Given the description of an element on the screen output the (x, y) to click on. 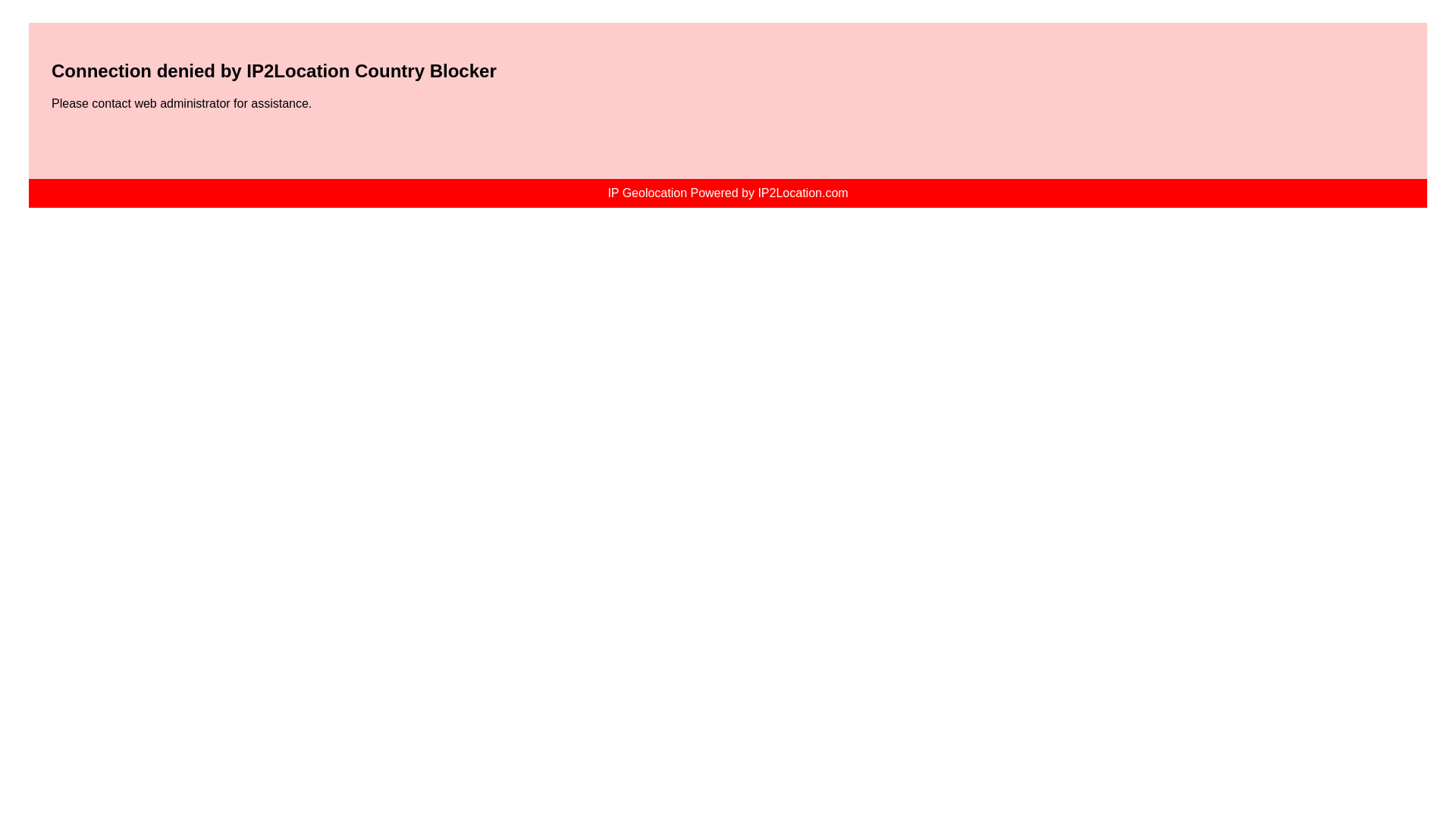
IP Geolocation Powered by IP2Location.com Element type: text (727, 192)
